Given the description of an element on the screen output the (x, y) to click on. 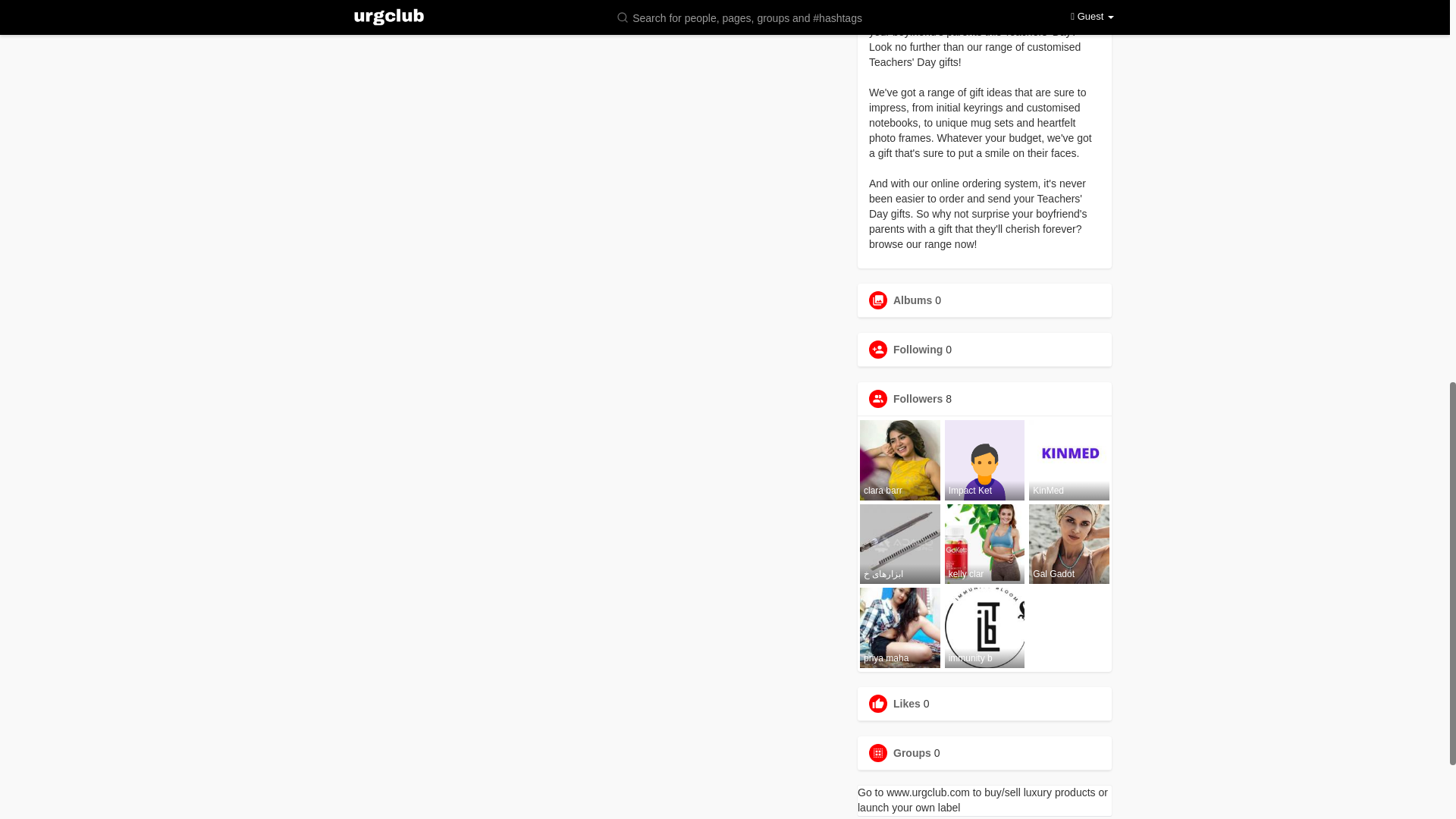
Gal Gadot (1069, 544)
immunity b (984, 628)
Albums (912, 300)
Likes (906, 703)
priya maha (900, 628)
Groups (912, 752)
Impact Ket (984, 460)
Following (917, 349)
kelly clar (984, 544)
KinMed (1069, 460)
clara barr (900, 460)
Followers (917, 398)
